Given the description of an element on the screen output the (x, y) to click on. 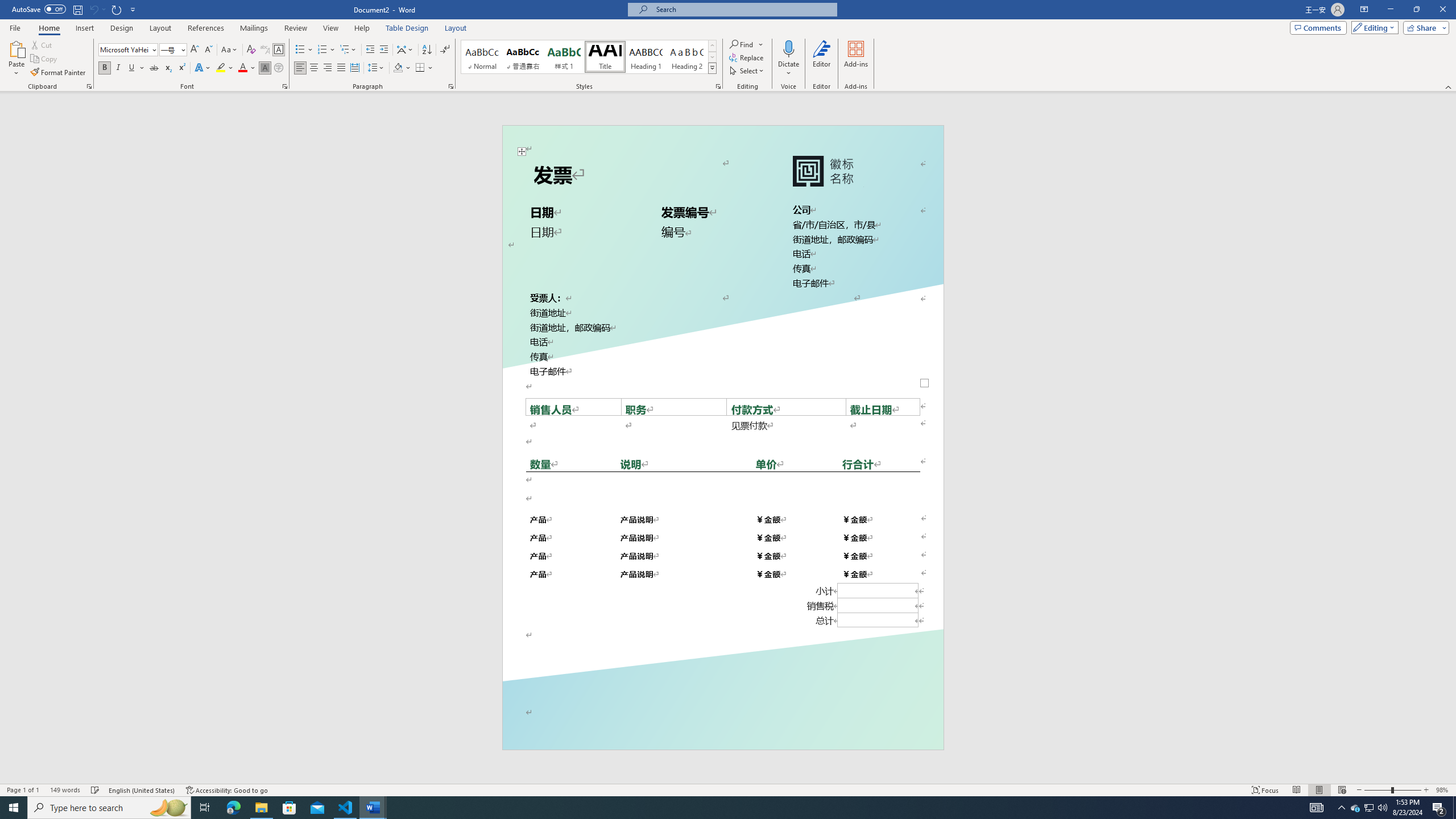
Align Left (300, 67)
Mode (1372, 27)
Underline (136, 67)
Page 1 content (722, 425)
Text Highlight Color Yellow (220, 67)
Numbering (322, 49)
Layout (455, 28)
Class: MsoCommandBar (728, 789)
Editor (821, 58)
Font... (285, 85)
Heading 1 (646, 56)
Row up (711, 45)
Dictate (788, 58)
